Given the description of an element on the screen output the (x, y) to click on. 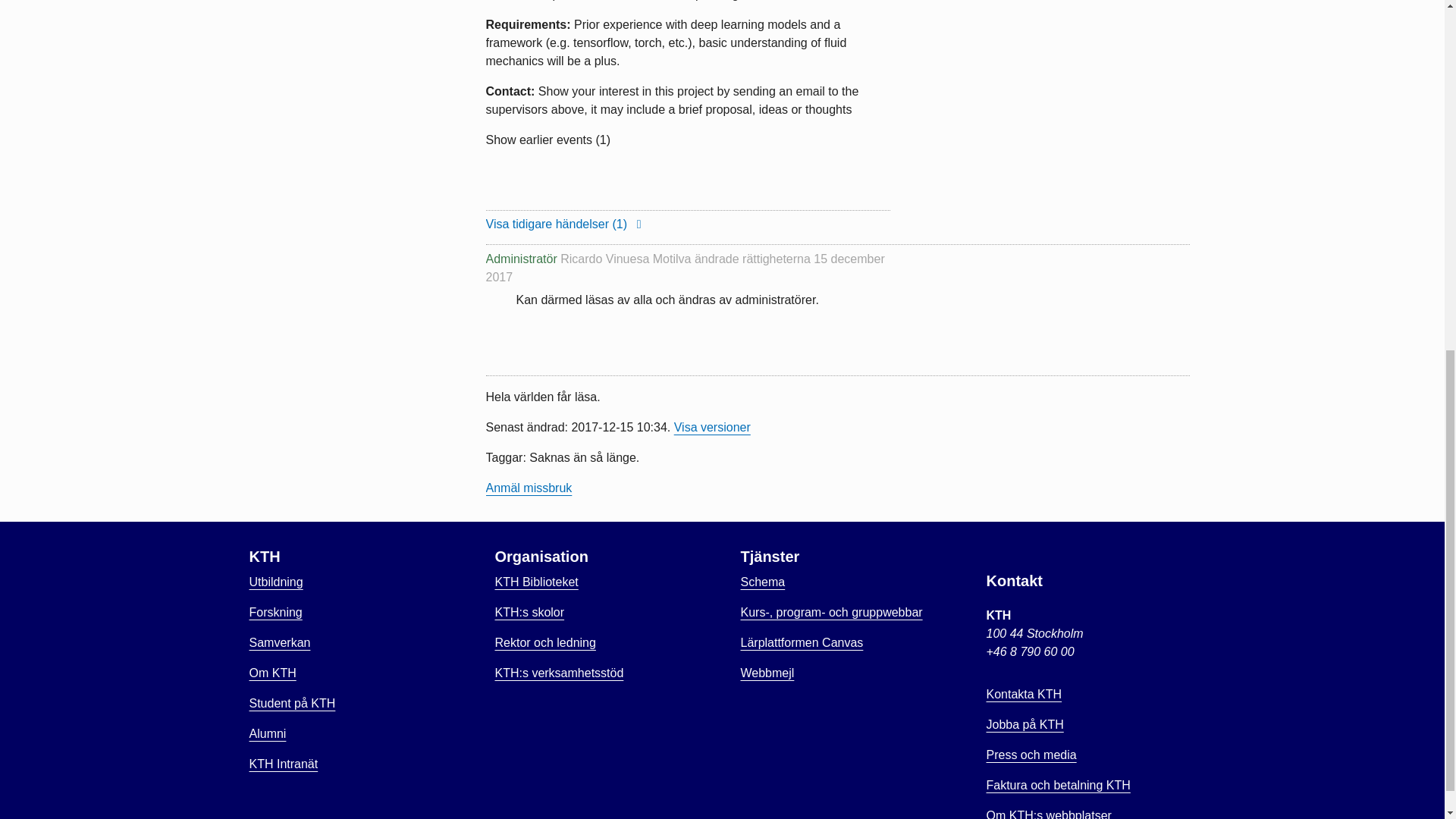
Visa versioner (712, 427)
Forskning (274, 612)
Utbildning (275, 581)
Samverkan (279, 642)
Ricardo Vinuesa Motilva (625, 258)
15 december 2017 kl. 10:33 (683, 267)
Alumni (266, 733)
Om KTH (271, 672)
